Given the description of an element on the screen output the (x, y) to click on. 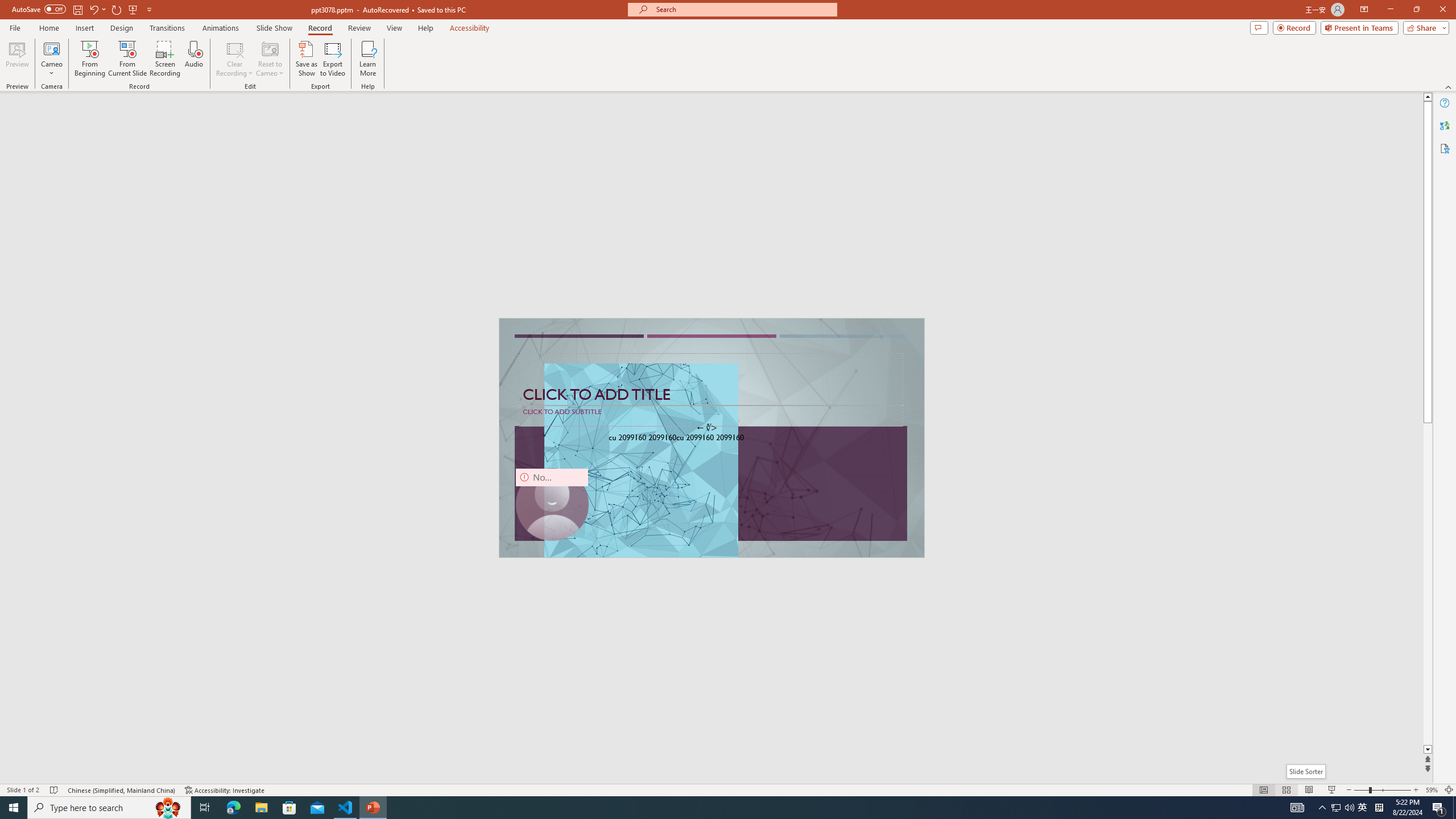
wangyian_dsw - DSW (23, 183)
Close (Ctrl+F4) (537, 183)
Class: actions-container (301, 387)
No Problems (121, 766)
Edge (516, 46)
Accounts - Sign in requested (76, 690)
